Given the description of an element on the screen output the (x, y) to click on. 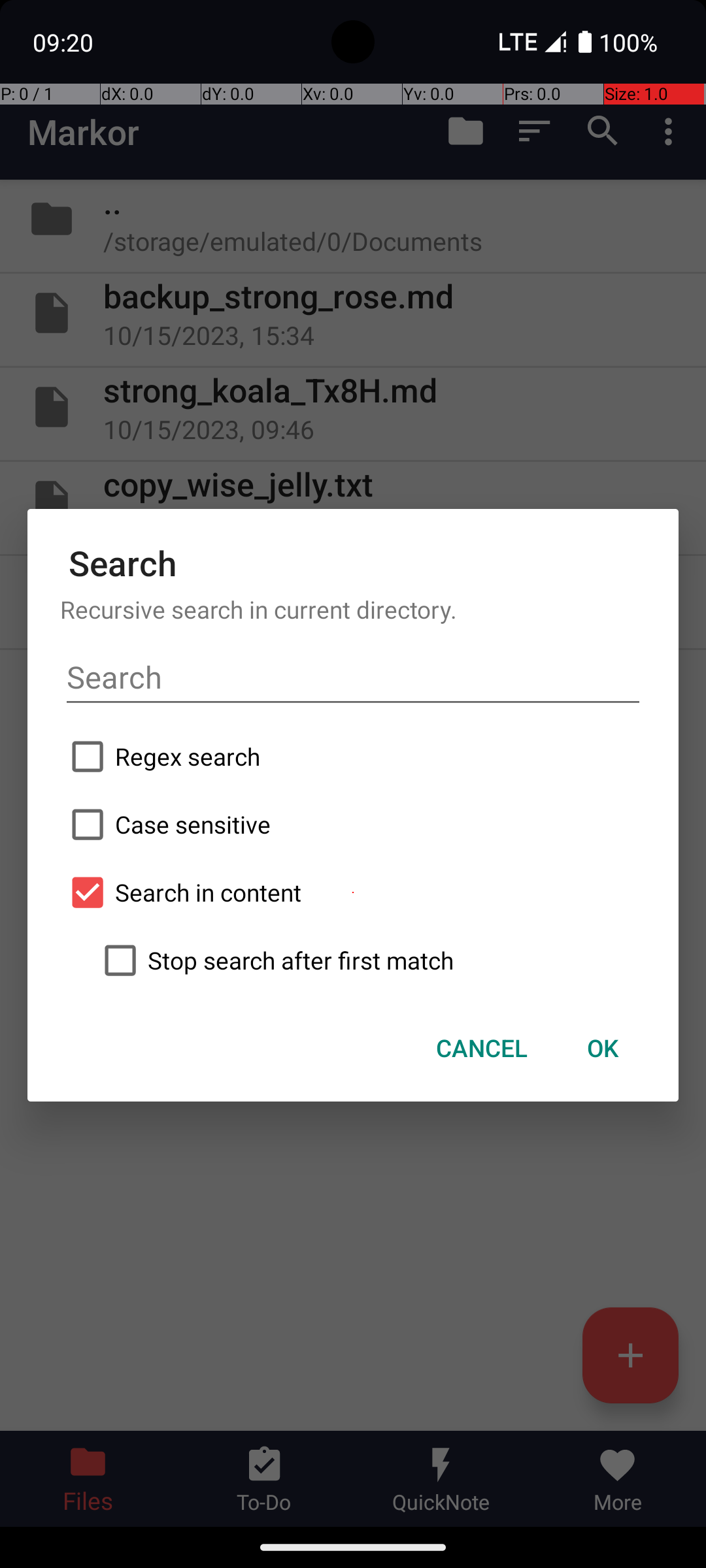
Stop search after first match Element type: android.widget.CheckBox (368, 959)
09:20 Element type: android.widget.TextView (64, 41)
